Given the description of an element on the screen output the (x, y) to click on. 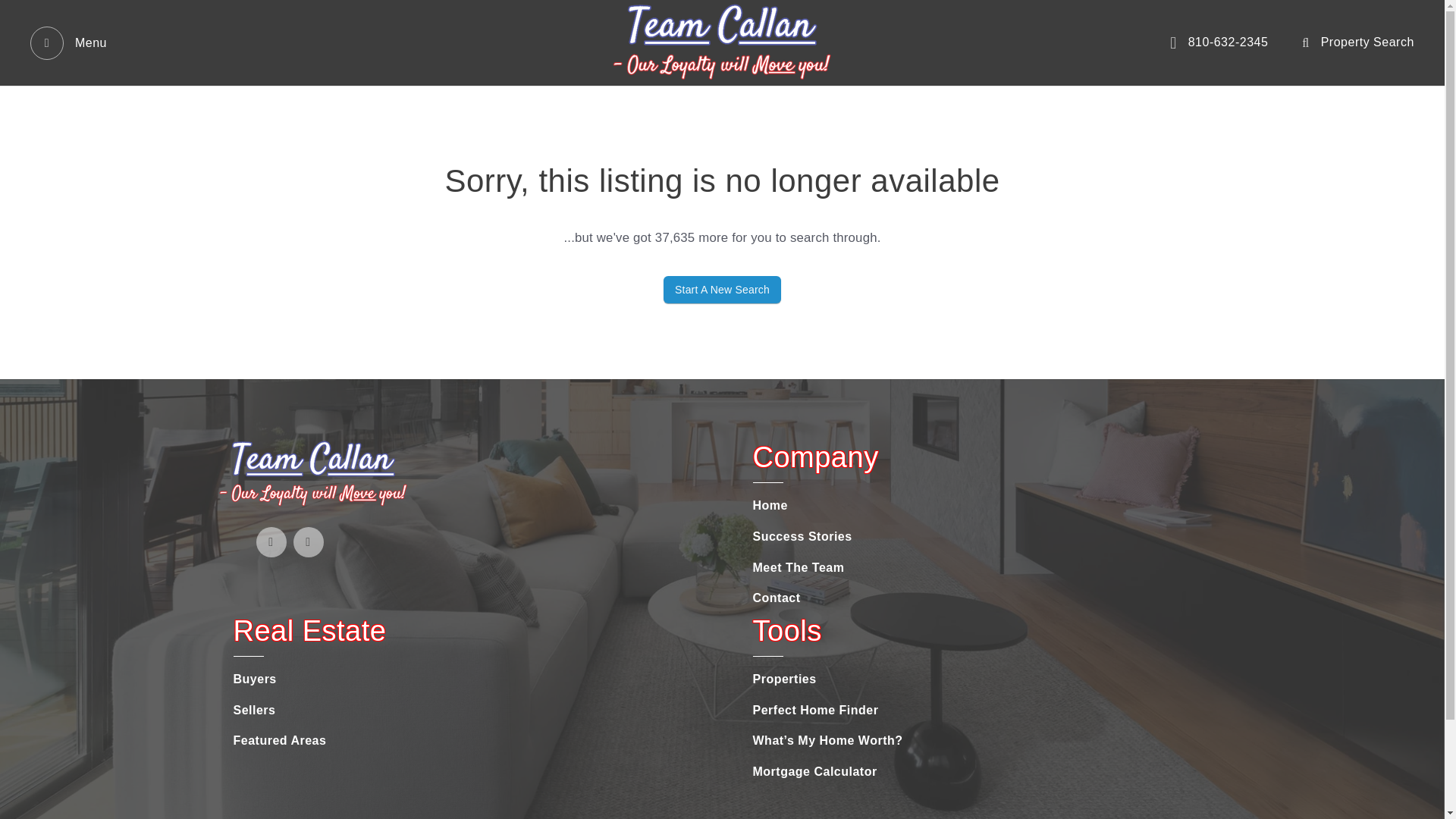
Property Search (1357, 42)
810-632-2345 (1219, 42)
Menu (68, 41)
Menu (68, 41)
